Given the description of an element on the screen output the (x, y) to click on. 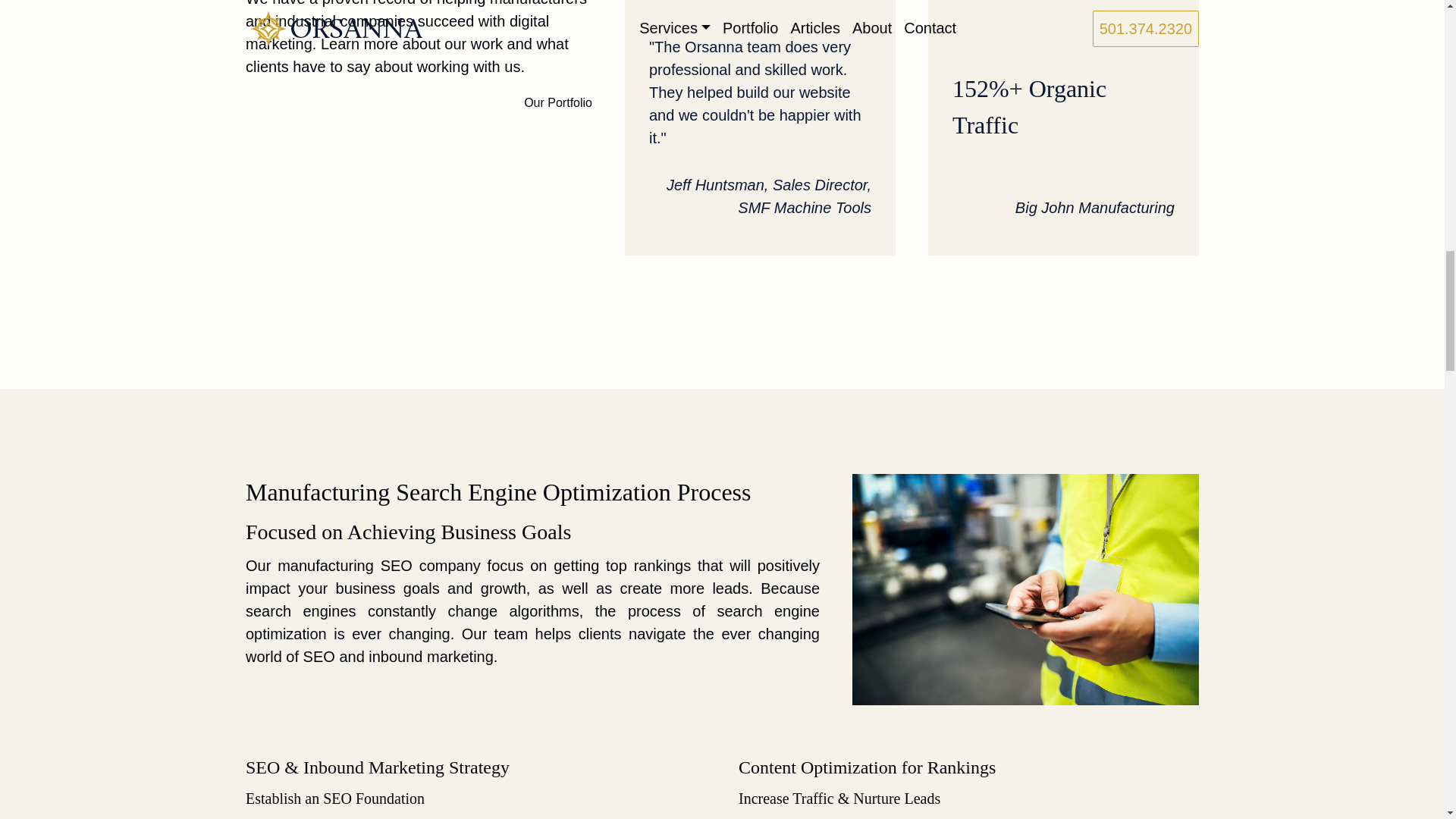
industrial marketing portfolio (558, 103)
Manufacturing SEO Case Study (1063, 127)
Manufacturing SEO Case Study (759, 127)
Our Portfolio (558, 103)
